Given the description of an element on the screen output the (x, y) to click on. 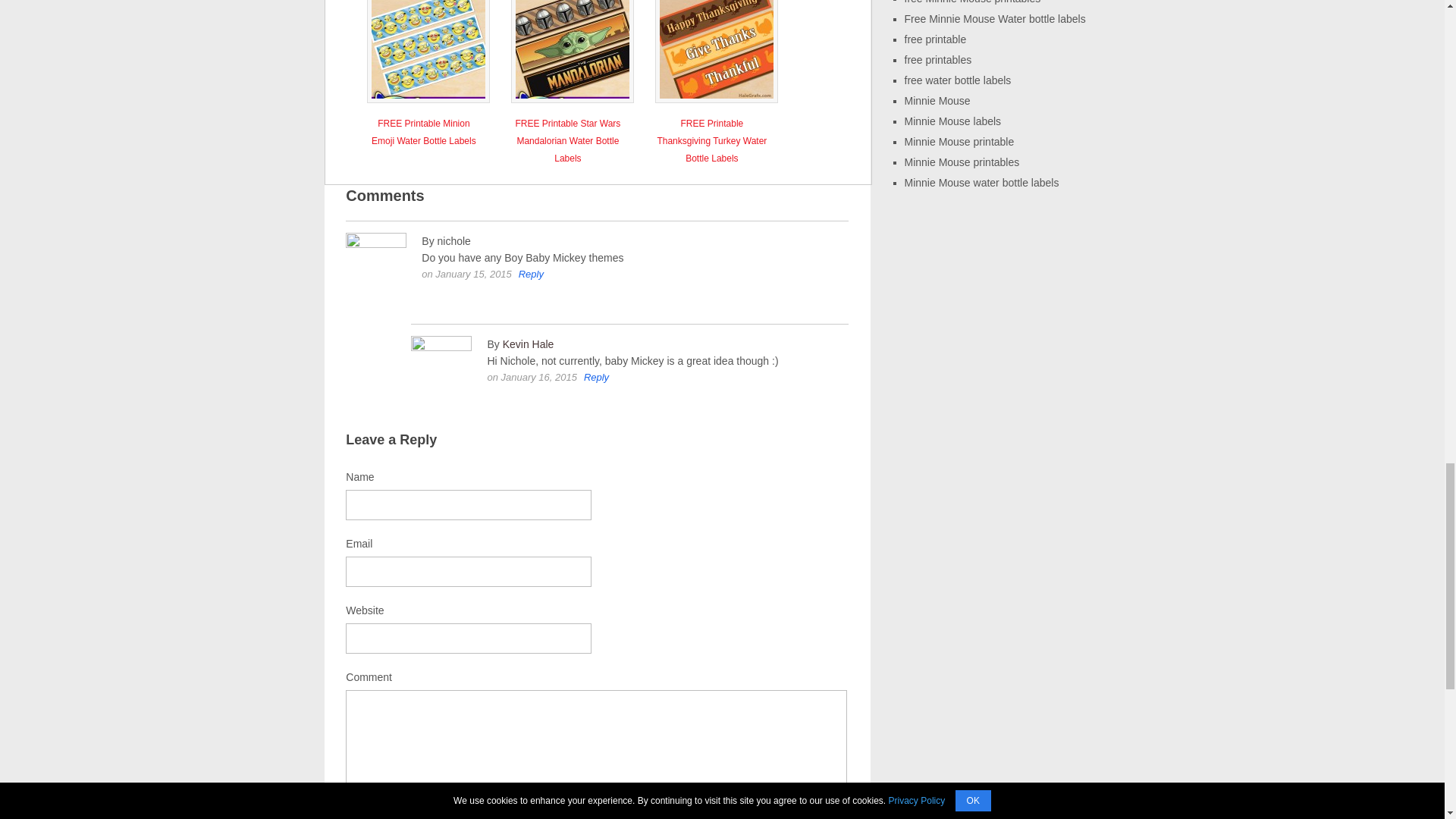
Reply (531, 274)
Reply (595, 377)
FREE Printable Star Wars Mandalorian Water Bottle Labels (567, 137)
Kevin Hale (528, 344)
FREE Printable Thanksgiving Turkey Water Bottle Labels (711, 137)
FREE Printable Minion Emoji Water Bottle Labels (423, 128)
